Given the description of an element on the screen output the (x, y) to click on. 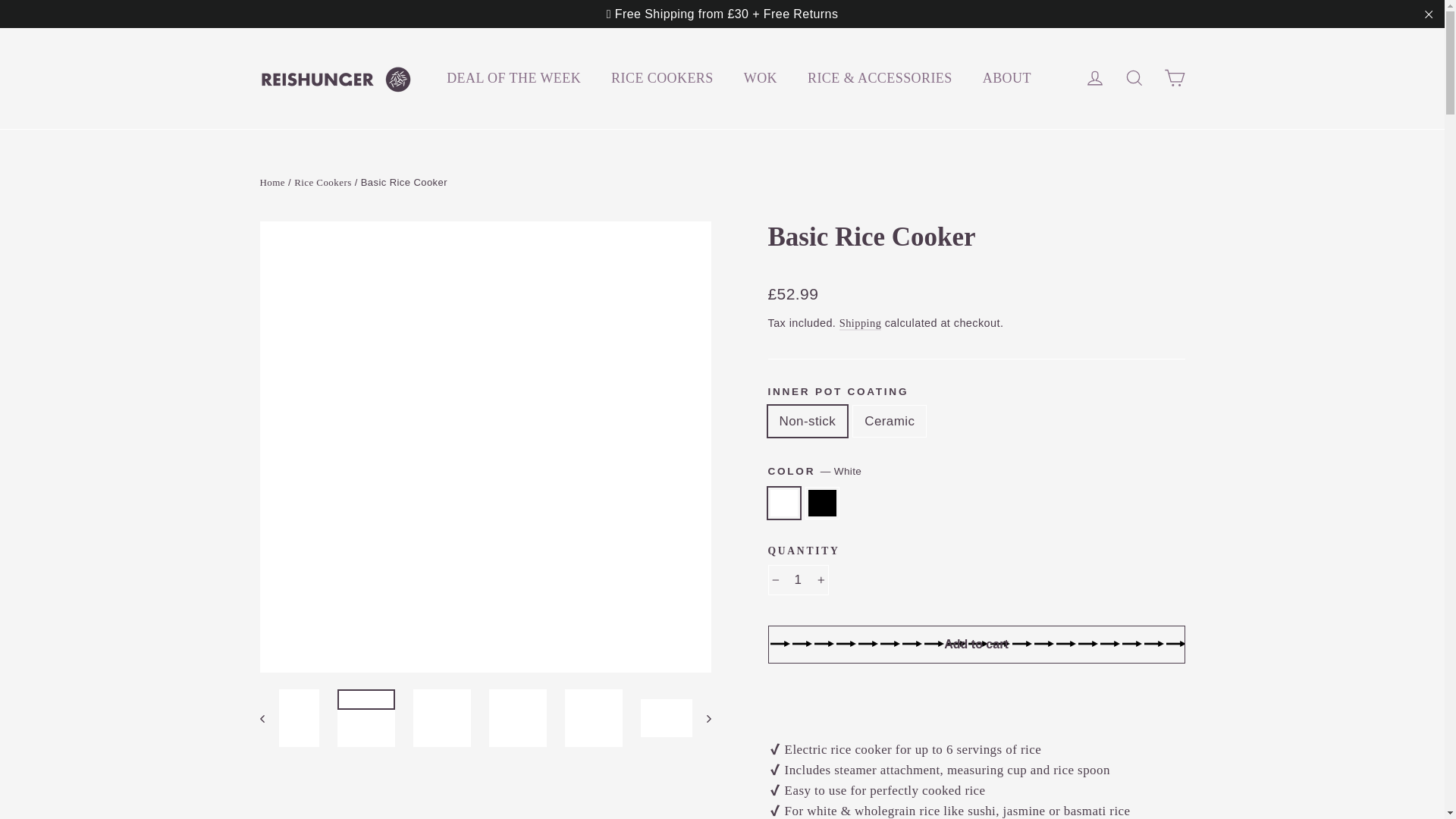
RICE COOKERS (662, 78)
Back to the frontpage (271, 182)
CART (1173, 77)
DEAL OF THE WEEK (512, 78)
LOG IN (1095, 77)
SEARCH (1134, 77)
